Given the description of an element on the screen output the (x, y) to click on. 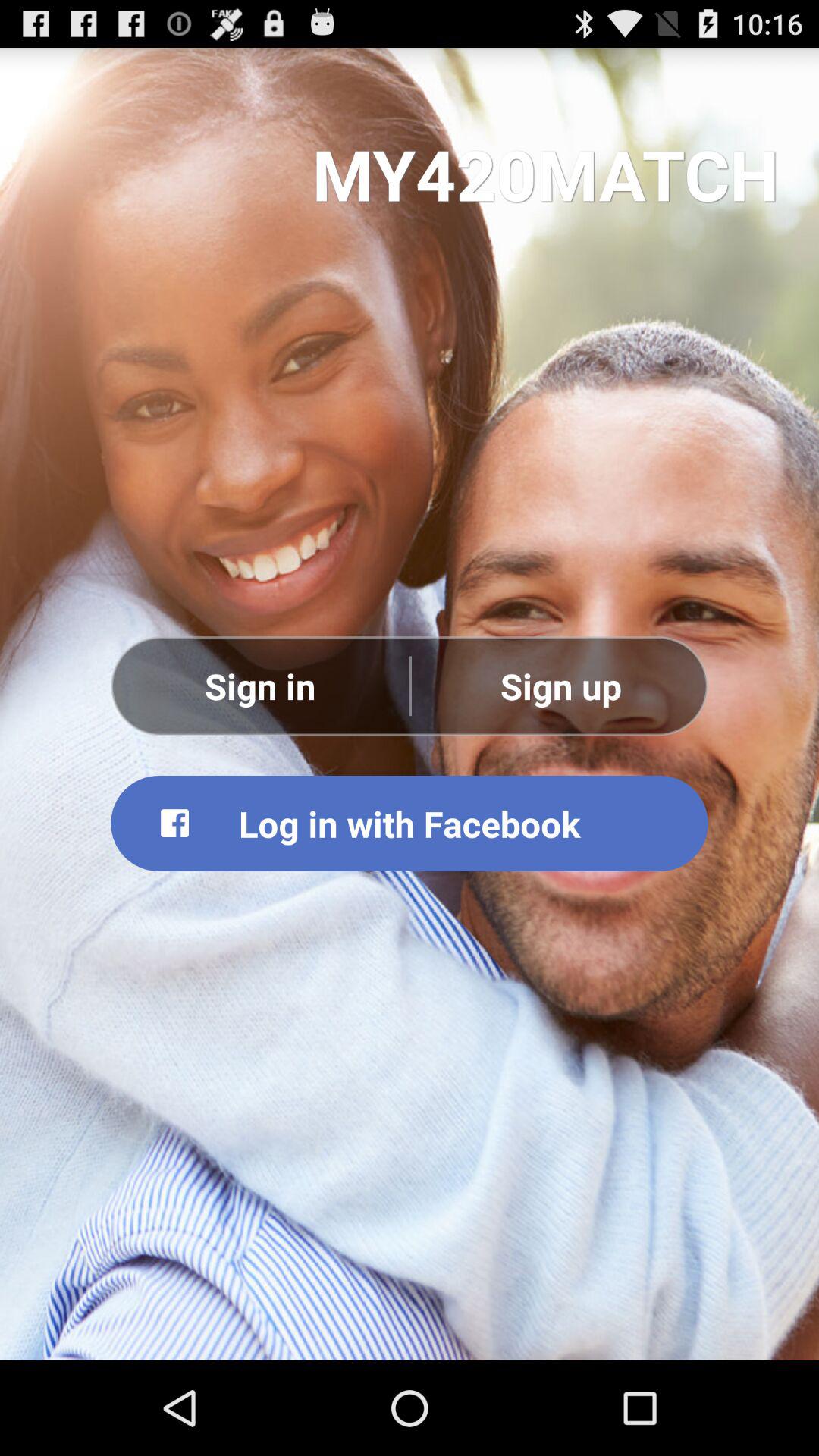
choose the item below the my420match app (259, 685)
